Given the description of an element on the screen output the (x, y) to click on. 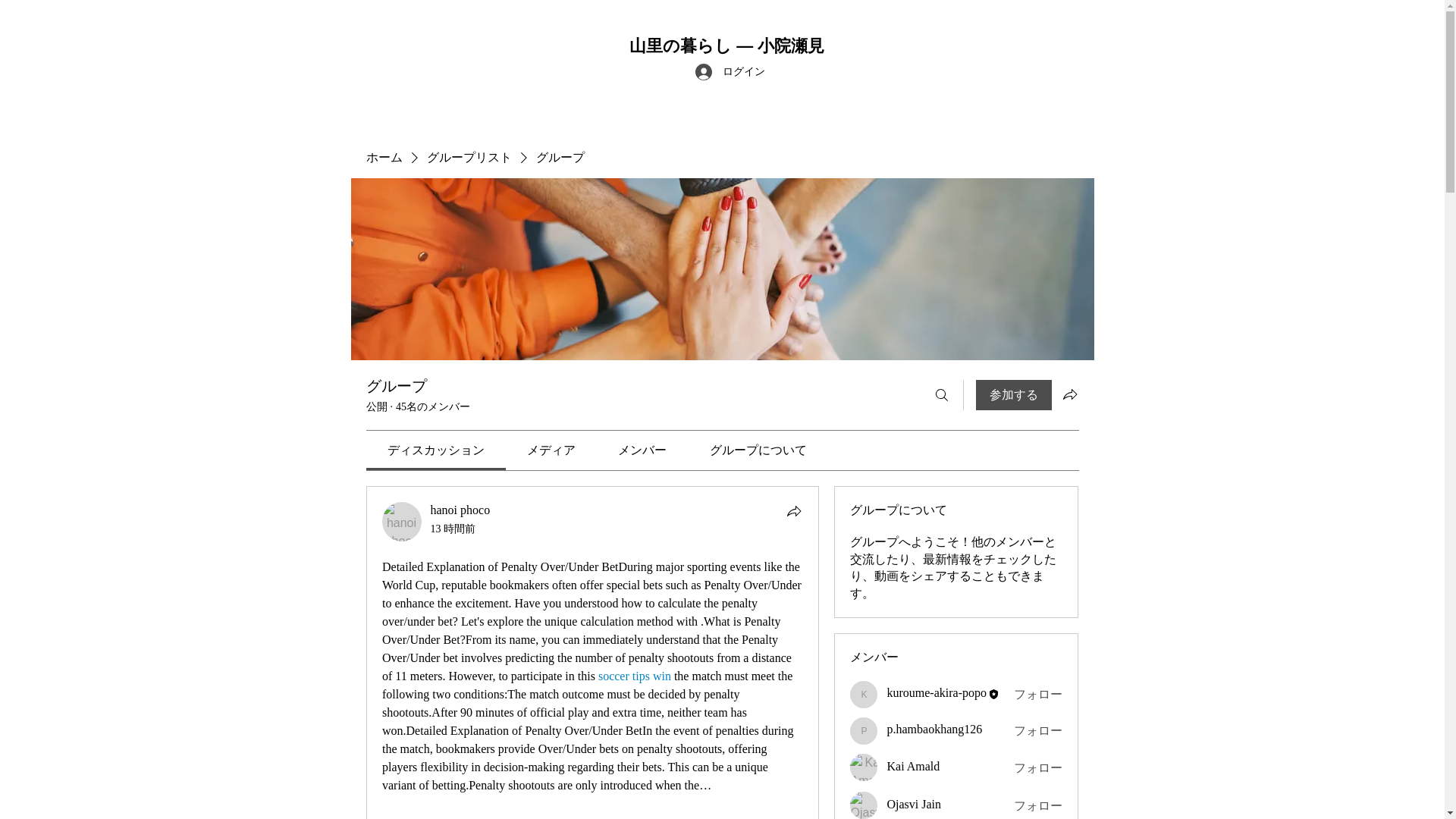
Kai Amald (863, 767)
p.hambaokhang126 (863, 730)
soccer tips win (632, 675)
kuroume-akira-popo (936, 692)
p.hambaokhang126 (933, 728)
hanoi phoco (401, 521)
Ojasvi Jain (863, 805)
kuroume-akira-popo (863, 694)
